Given the description of an element on the screen output the (x, y) to click on. 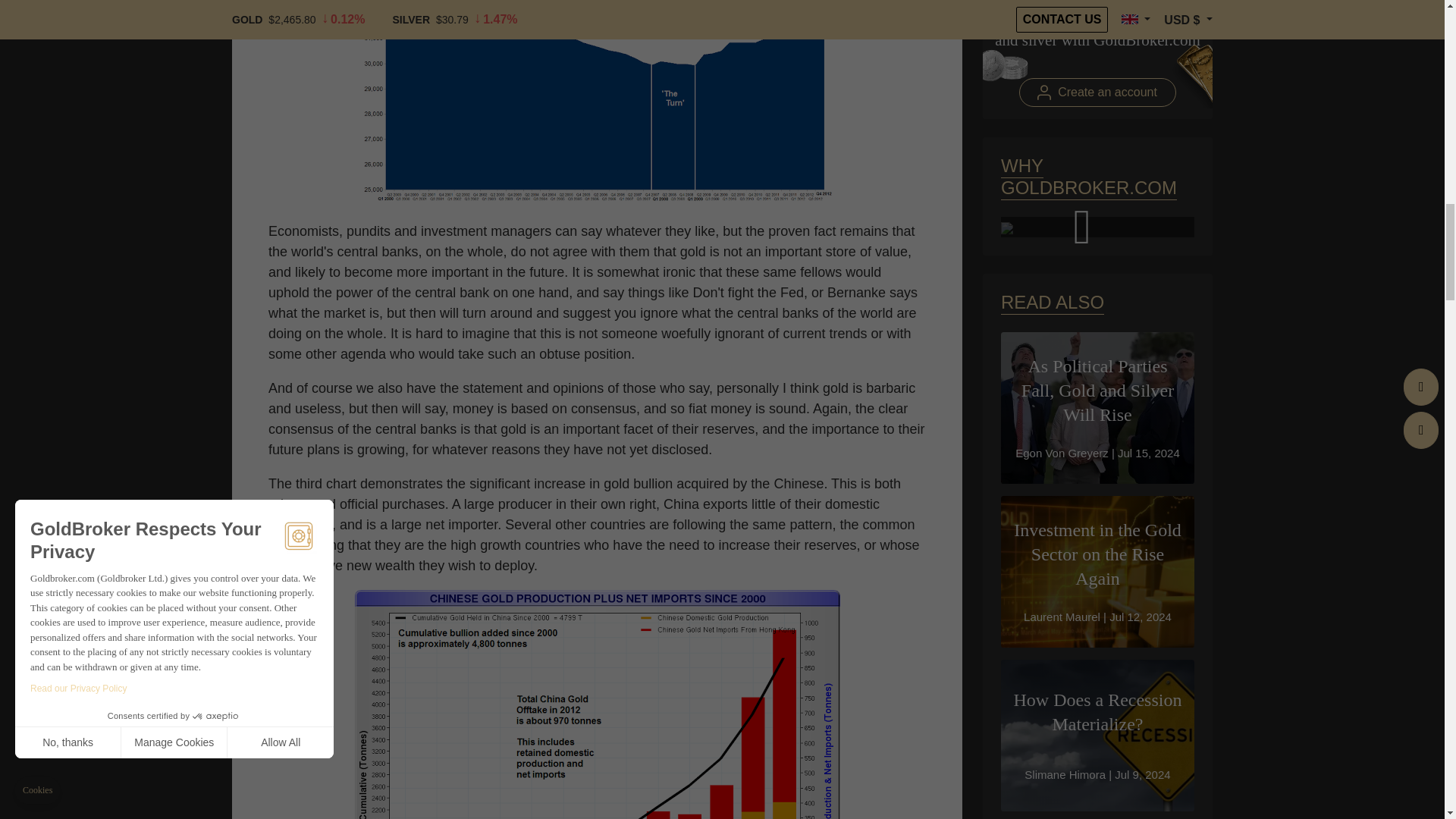
Chinese gold production plus net imports since 2000 (597, 704)
World gold official reserves (597, 104)
